Given the description of an element on the screen output the (x, y) to click on. 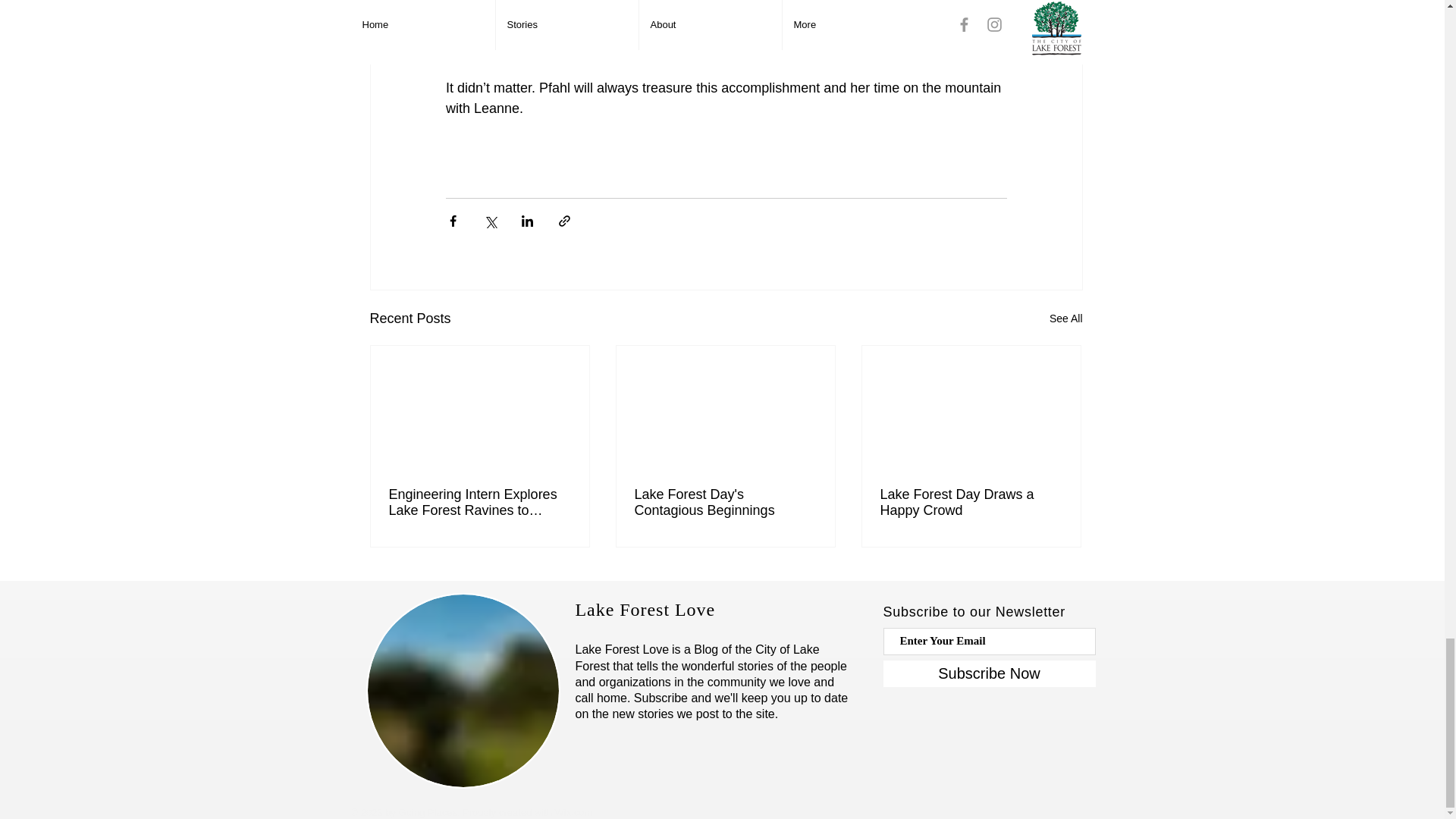
Lake Forest Day Draws a Happy Crowd (970, 502)
See All (1066, 318)
Wix.com (573, 812)
Subscribe Now (988, 673)
Lake Forest Day's Contagious Beginnings (724, 502)
